Given the description of an element on the screen output the (x, y) to click on. 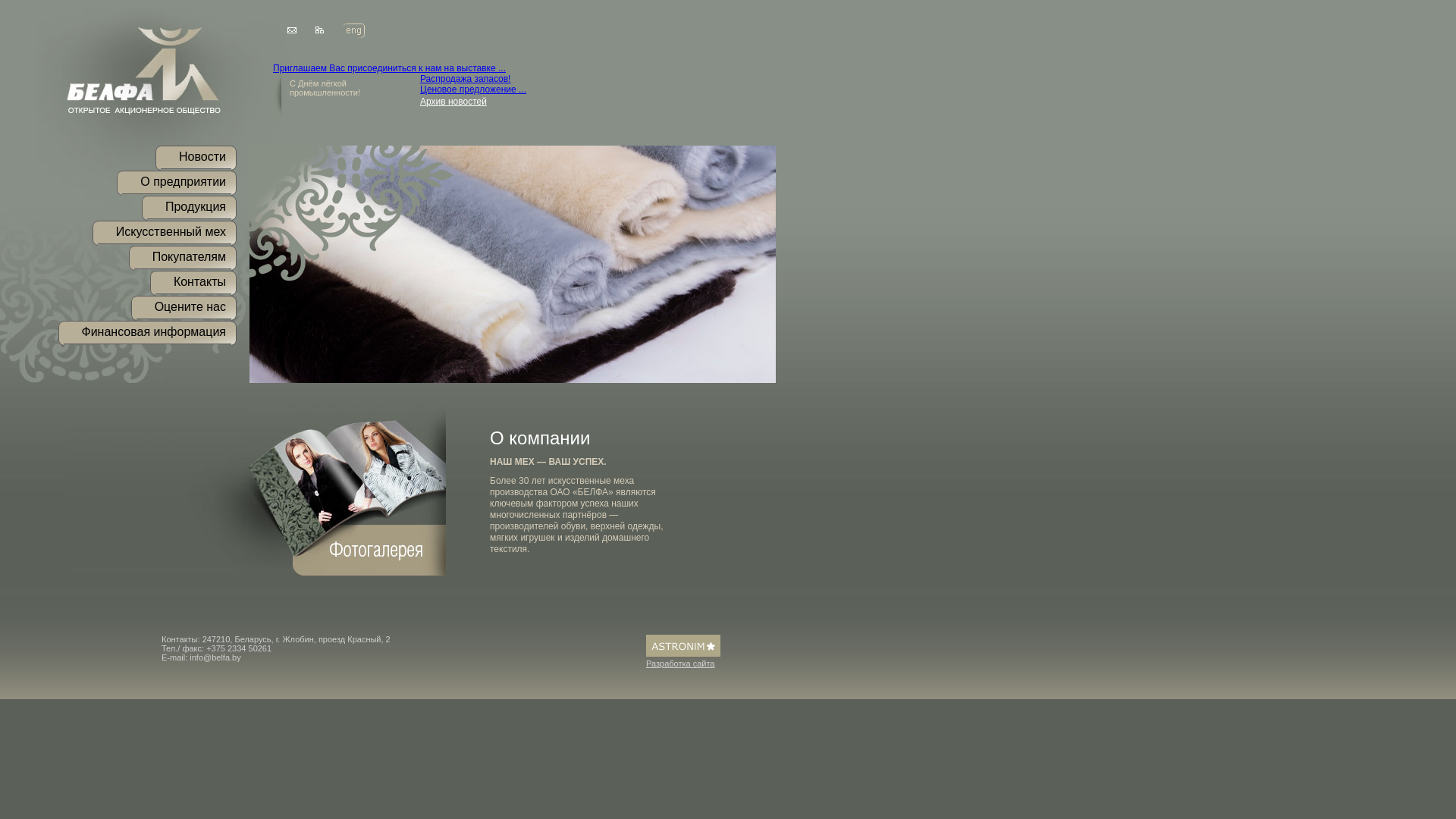
English Element type: hover (353, 30)
Astronim* Element type: hover (683, 651)
info@belfa.by Element type: text (214, 657)
